Given the description of an element on the screen output the (x, y) to click on. 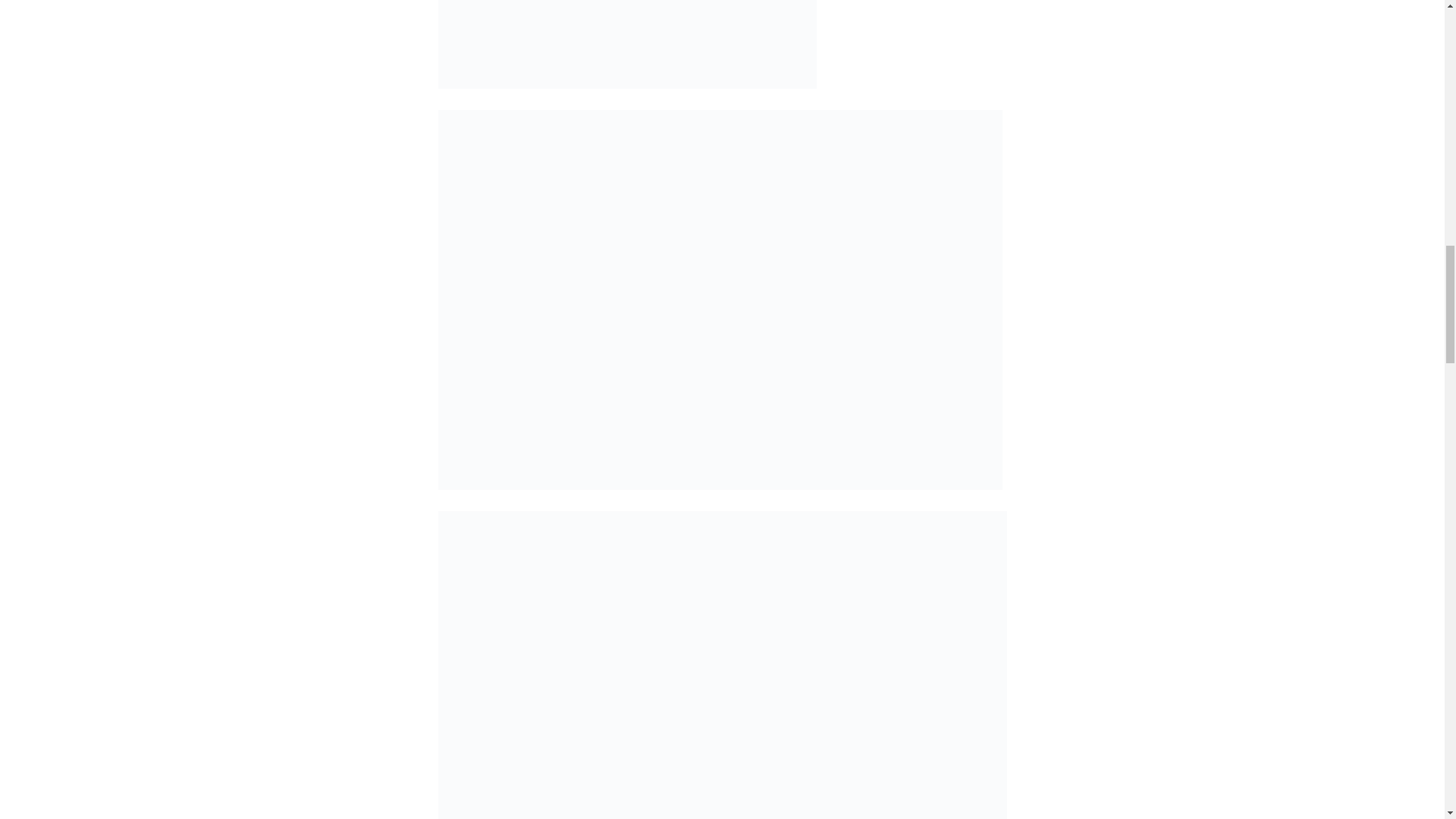
Binamon- Best Play To Earn Game (627, 44)
